Given the description of an element on the screen output the (x, y) to click on. 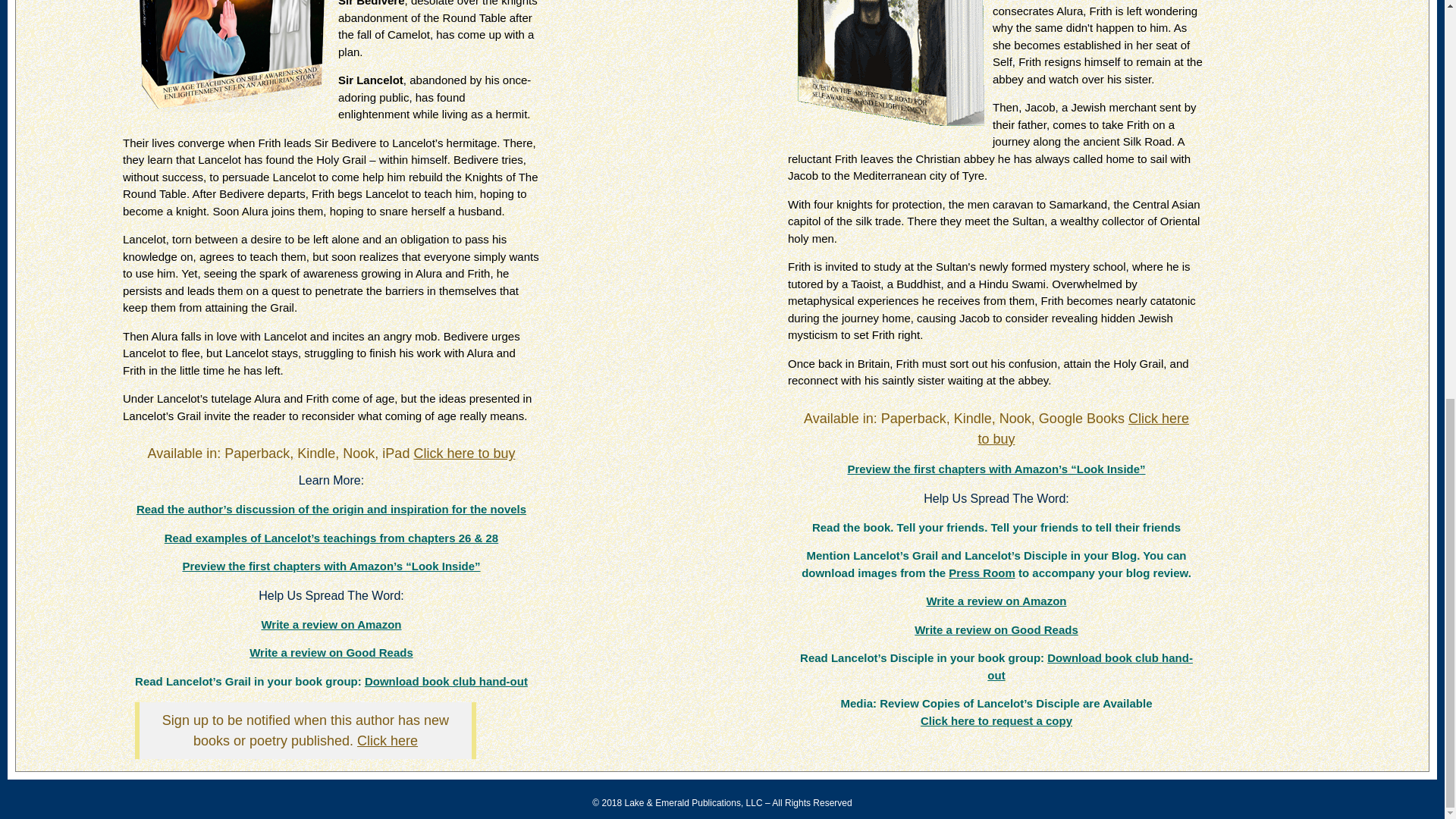
Download book club hand-out (446, 680)
Click here to buy (464, 453)
Click here to buy (1082, 428)
Download book club hand-out (1089, 666)
Press Room (981, 572)
Click here (386, 740)
Write a review on Amazon (995, 600)
Write a review on Good Reads (996, 629)
Write a review on Good Reads (330, 652)
Click here to request a copy (995, 720)
Write a review on Amazon (330, 624)
